Given the description of an element on the screen output the (x, y) to click on. 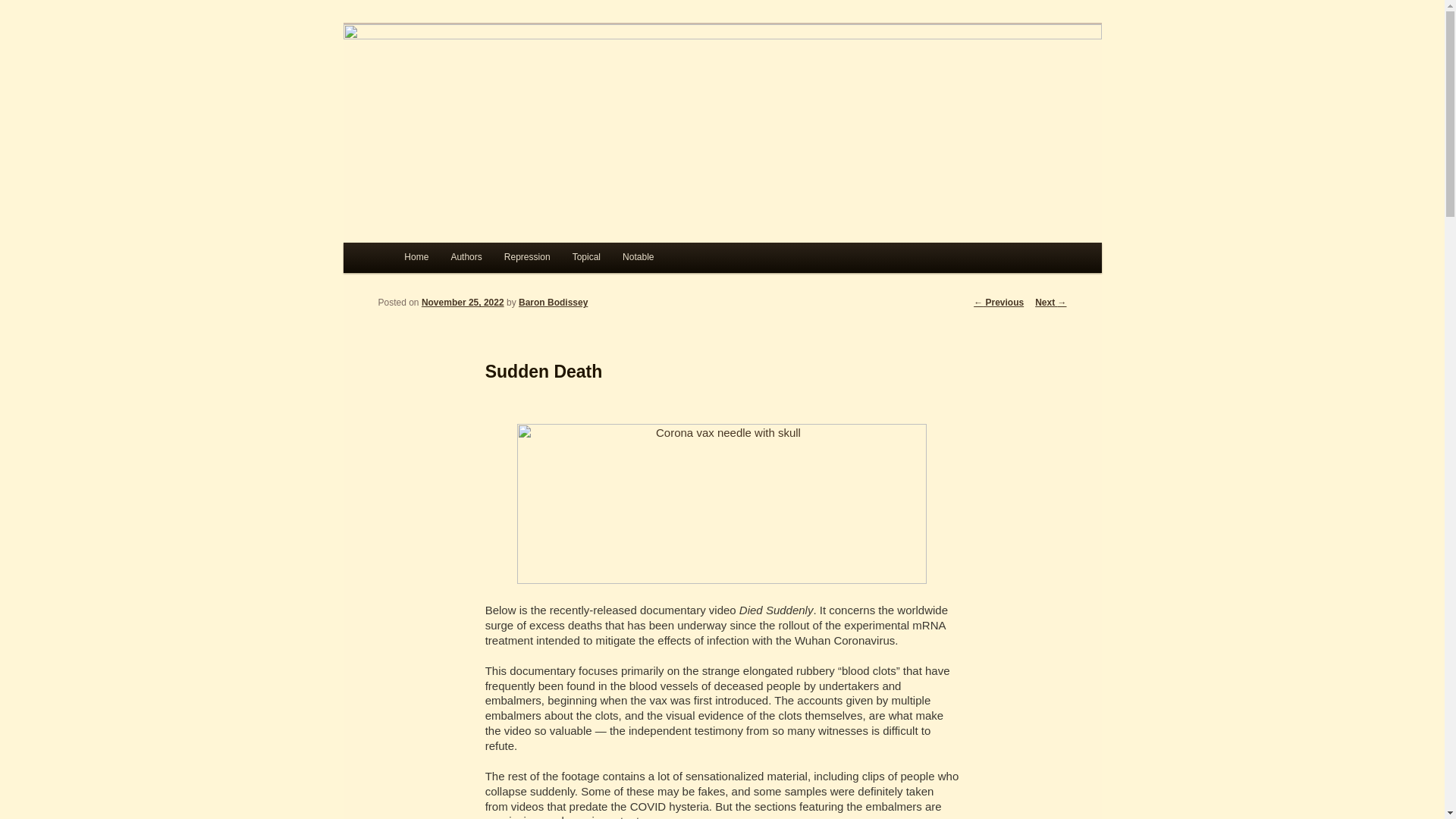
Skip to primary content (472, 261)
Corona vax needle with skull (721, 503)
Authors (466, 257)
Home (416, 257)
Skip to secondary content (479, 261)
Topical (585, 257)
Gates of Vienna (486, 78)
8:05 pm (462, 302)
Skip to secondary content (479, 261)
View all posts by Baron Bodissey (553, 302)
